Given the description of an element on the screen output the (x, y) to click on. 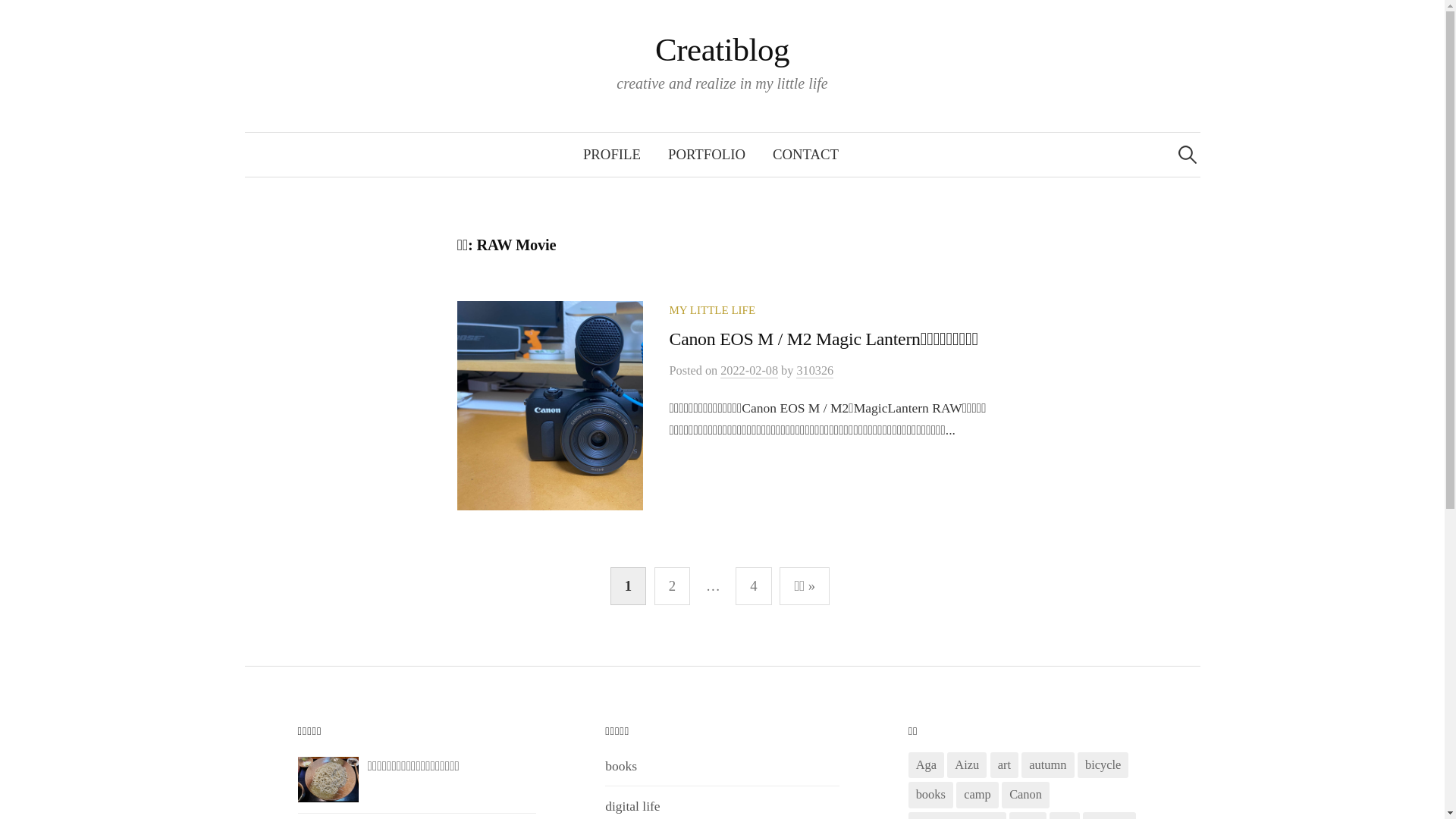
Aizu Element type: text (966, 765)
2022-02-08 Element type: text (749, 371)
PORTFOLIO Element type: text (706, 154)
2 Element type: text (672, 586)
4 Element type: text (753, 586)
camp Element type: text (977, 794)
310326 Element type: text (814, 371)
art Element type: text (1004, 765)
bicycle Element type: text (1102, 765)
CONTACT Element type: text (805, 154)
digital life Element type: text (632, 805)
PROFILE Element type: text (611, 154)
books Element type: text (930, 794)
Creatiblog Element type: text (722, 49)
MY LITTLE LIFE Element type: text (711, 310)
Canon Element type: text (1025, 794)
autumn Element type: text (1047, 765)
Aga Element type: text (926, 765)
books Element type: text (621, 765)
